Given the description of an element on the screen output the (x, y) to click on. 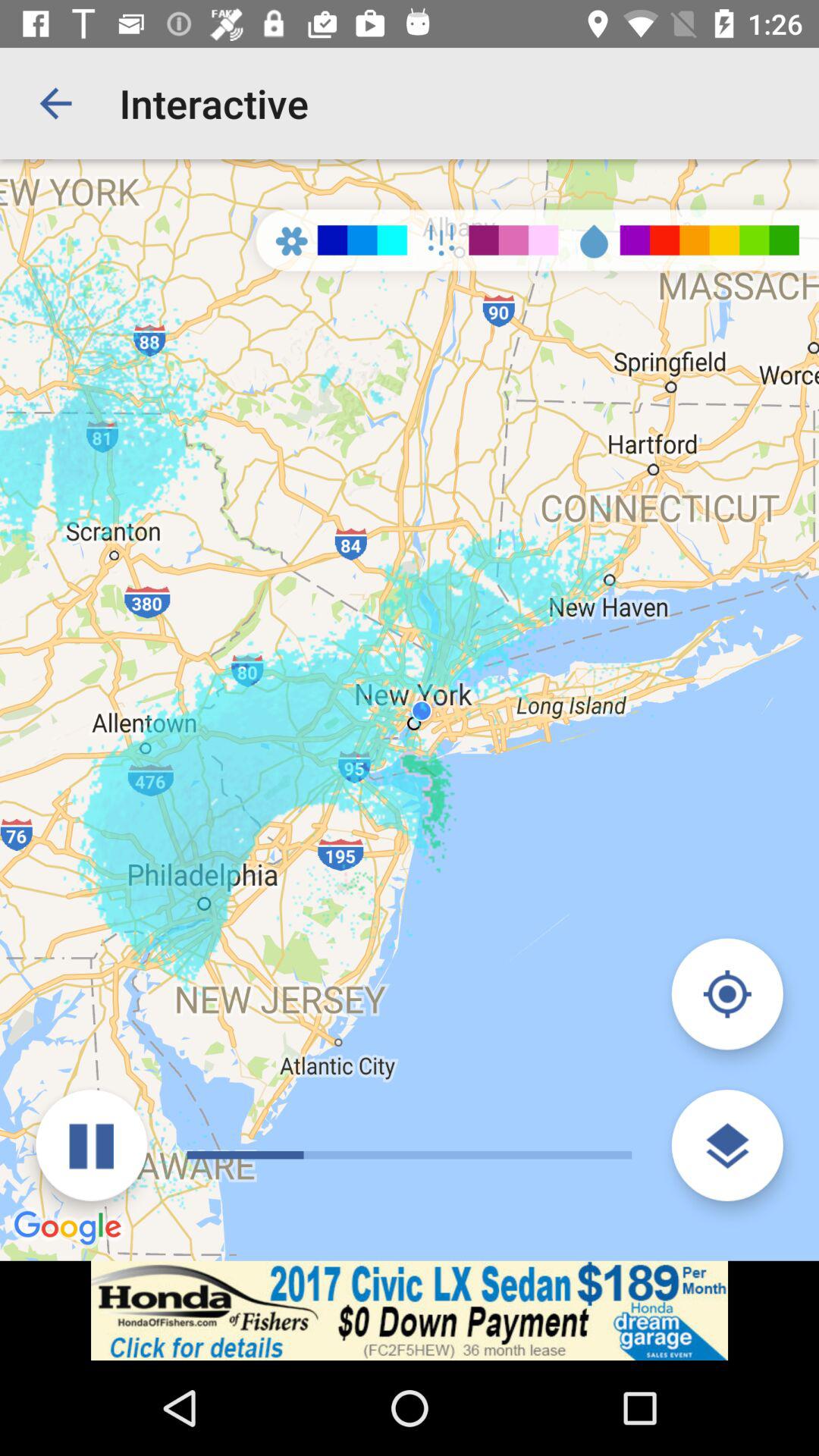
get current location (727, 993)
